Given the description of an element on the screen output the (x, y) to click on. 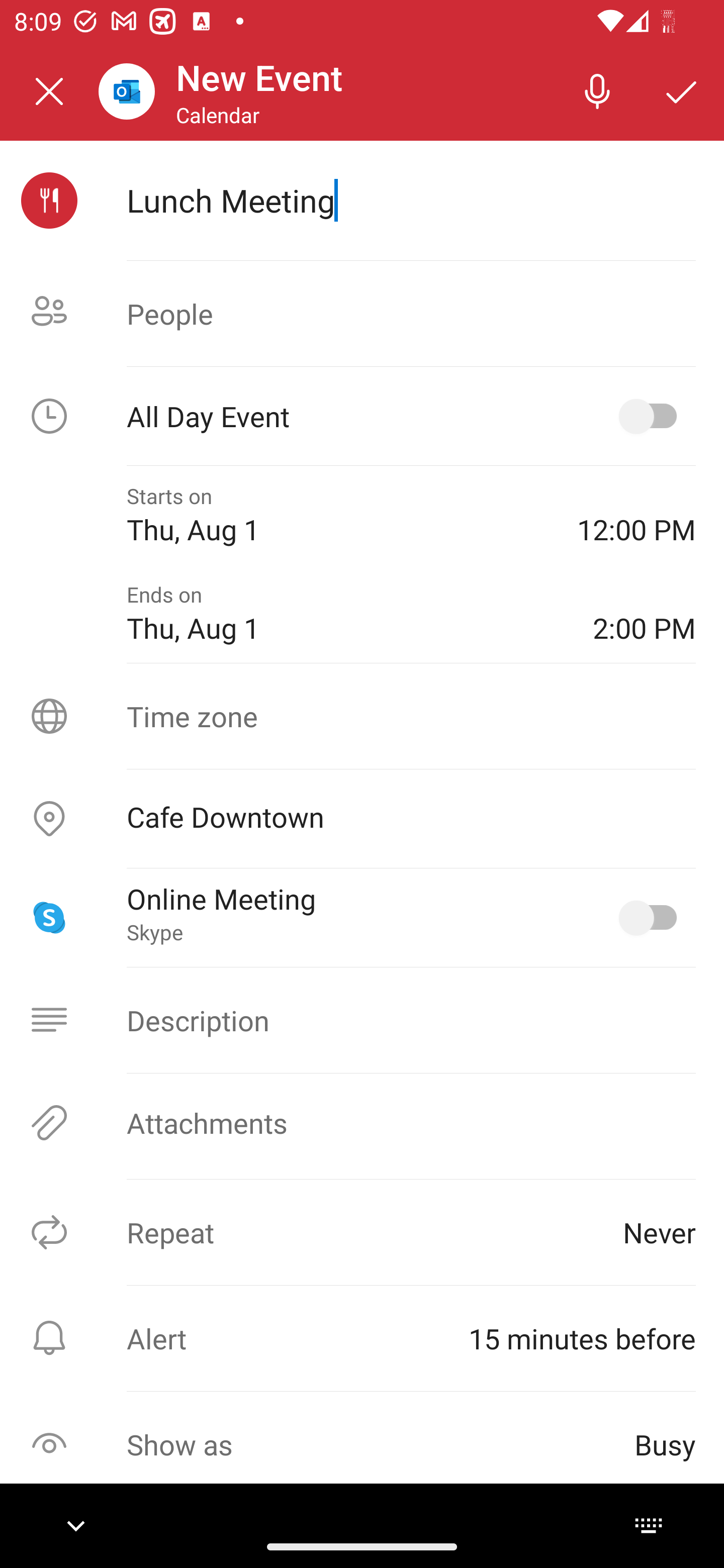
Close (49, 91)
Save (681, 90)
Lunch Meeting (410, 200)
lunch selected, event icon picker (48, 200)
People (362, 313)
All Day Event (362, 415)
Starts on Thu, Aug 1 (337, 514)
12:00 PM (636, 514)
Ends on Thu, Aug 1 (345, 613)
2:00 PM (644, 613)
Time zone (362, 715)
Location, Cafe Downtown Cafe Downtown (362, 818)
Online Meeting, Skype selected (651, 917)
Description (362, 1019)
Attachments (362, 1122)
Repeat Never (362, 1232)
Alert ⁨15 minutes before (362, 1337)
Show as Busy (362, 1444)
